Given the description of an element on the screen output the (x, y) to click on. 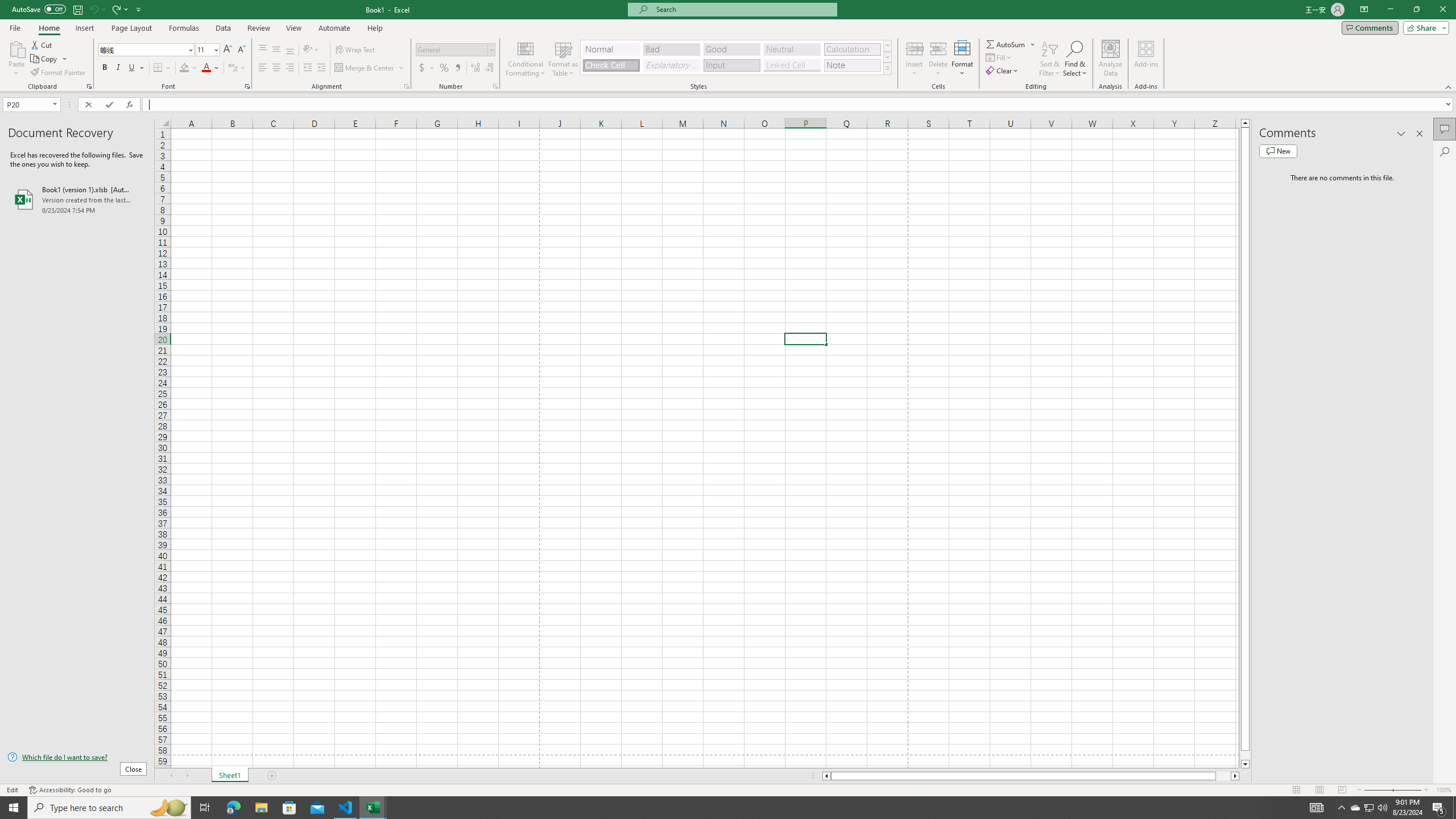
Bottom Border (157, 67)
Underline (131, 67)
Number Format (451, 49)
AutoSum (1011, 44)
Explanatory Text (671, 65)
Borders (162, 67)
Italic (118, 67)
